Given the description of an element on the screen output the (x, y) to click on. 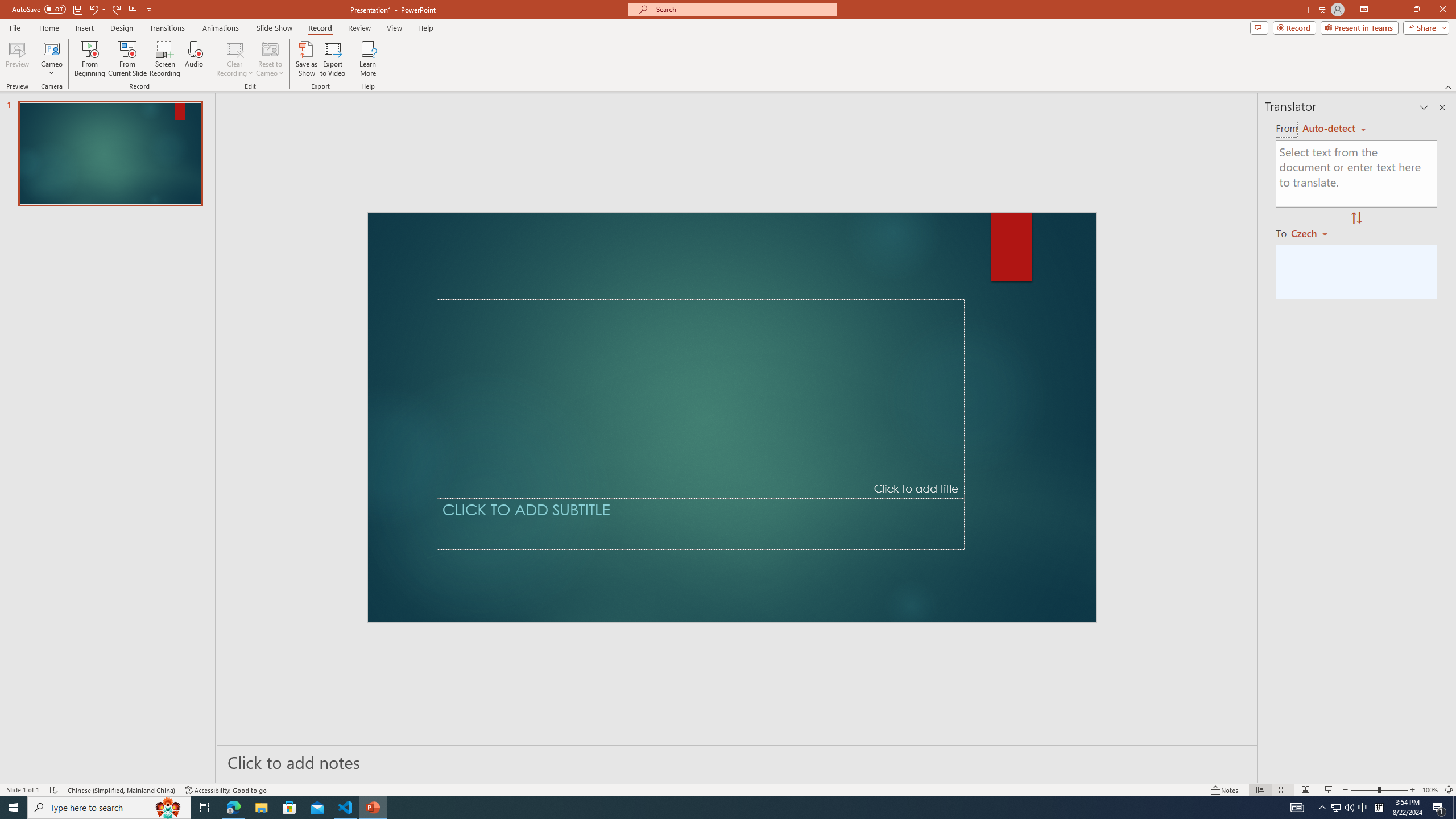
Save as Show (306, 58)
Zoom 100% (1430, 790)
